Given the description of an element on the screen output the (x, y) to click on. 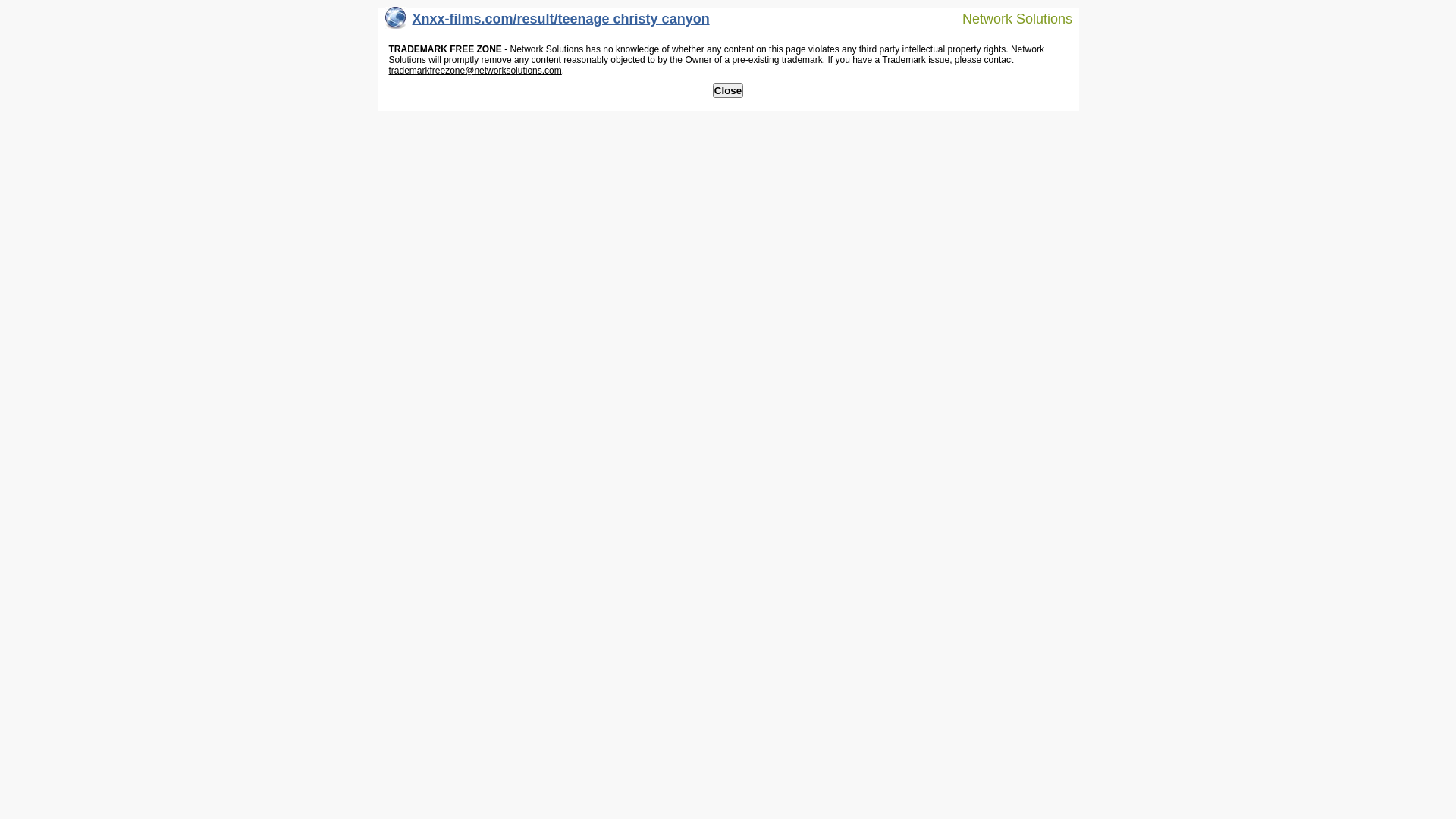
trademarkfreezone@networksolutions.com Element type: text (474, 70)
Xnxx-films.com/result/teenage christy canyon Element type: text (547, 21)
Close Element type: text (727, 90)
Network Solutions Element type: text (1007, 17)
